Given the description of an element on the screen output the (x, y) to click on. 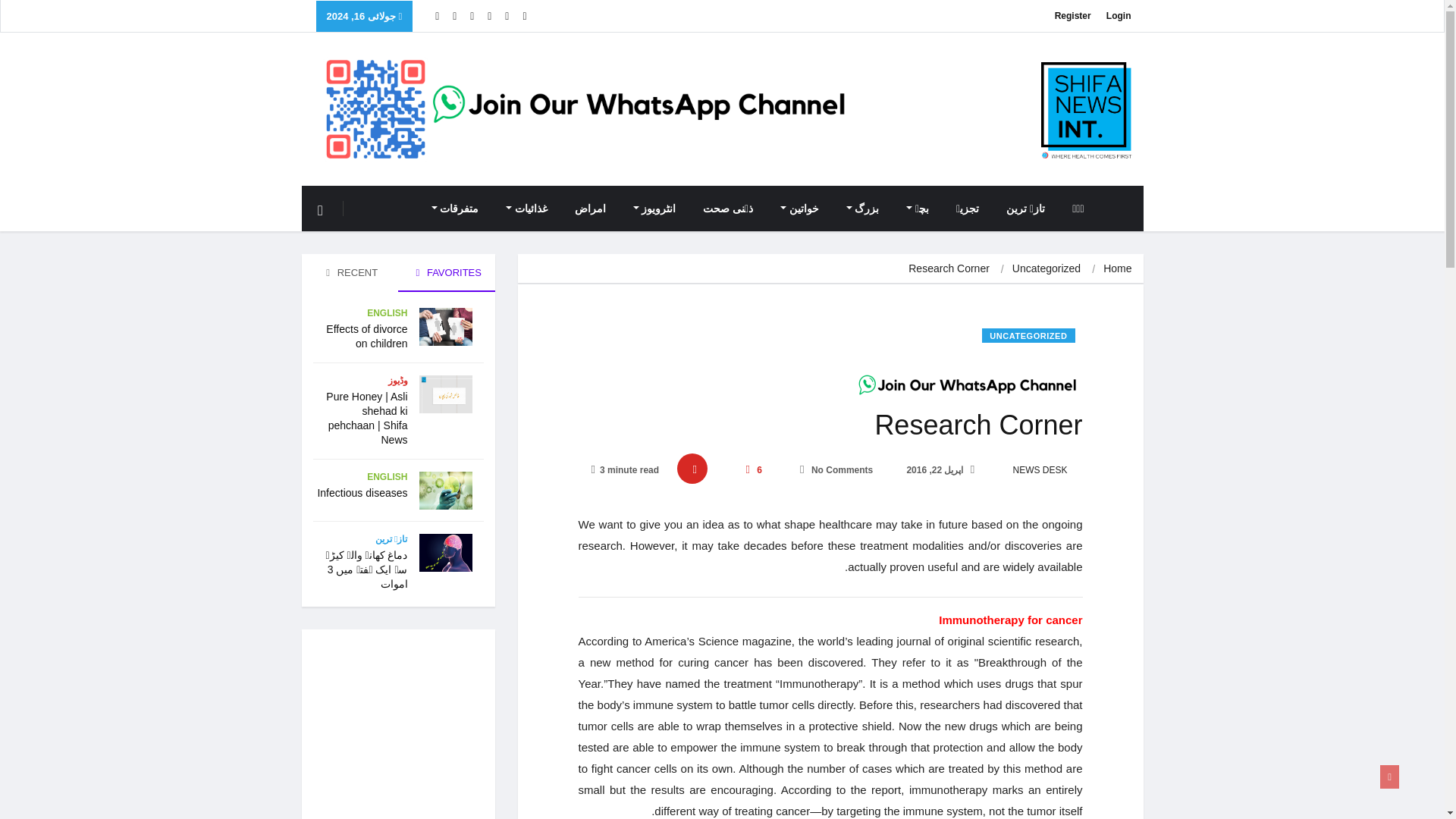
Register (1072, 15)
Uncategorized (1045, 268)
UNCATEGORIZED (1027, 335)
Home (1117, 268)
